Given the description of an element on the screen output the (x, y) to click on. 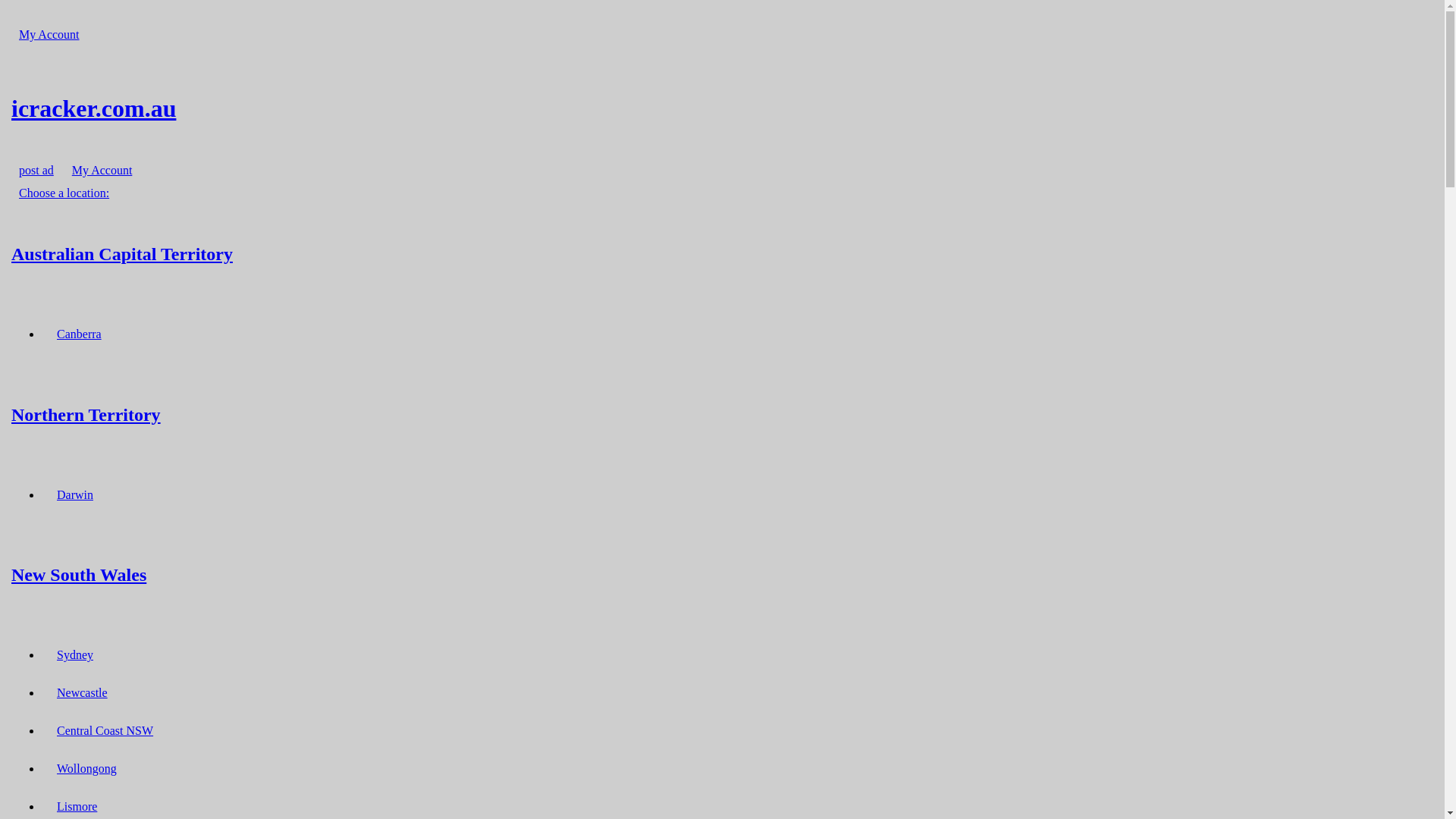
My Account Element type: text (102, 170)
Newcastle Element type: text (82, 692)
Sydney Element type: text (74, 654)
Wollongong Element type: text (86, 768)
Australian Capital Territory Element type: text (722, 253)
Central Coast NSW Element type: text (104, 730)
My Account Element type: text (49, 34)
Choose a location: Element type: text (63, 192)
Canberra Element type: text (79, 334)
post ad Element type: text (36, 170)
New South Wales Element type: text (722, 575)
icracker.com.au Element type: text (722, 108)
Darwin Element type: text (74, 494)
Northern Territory Element type: text (722, 414)
